Given the description of an element on the screen output the (x, y) to click on. 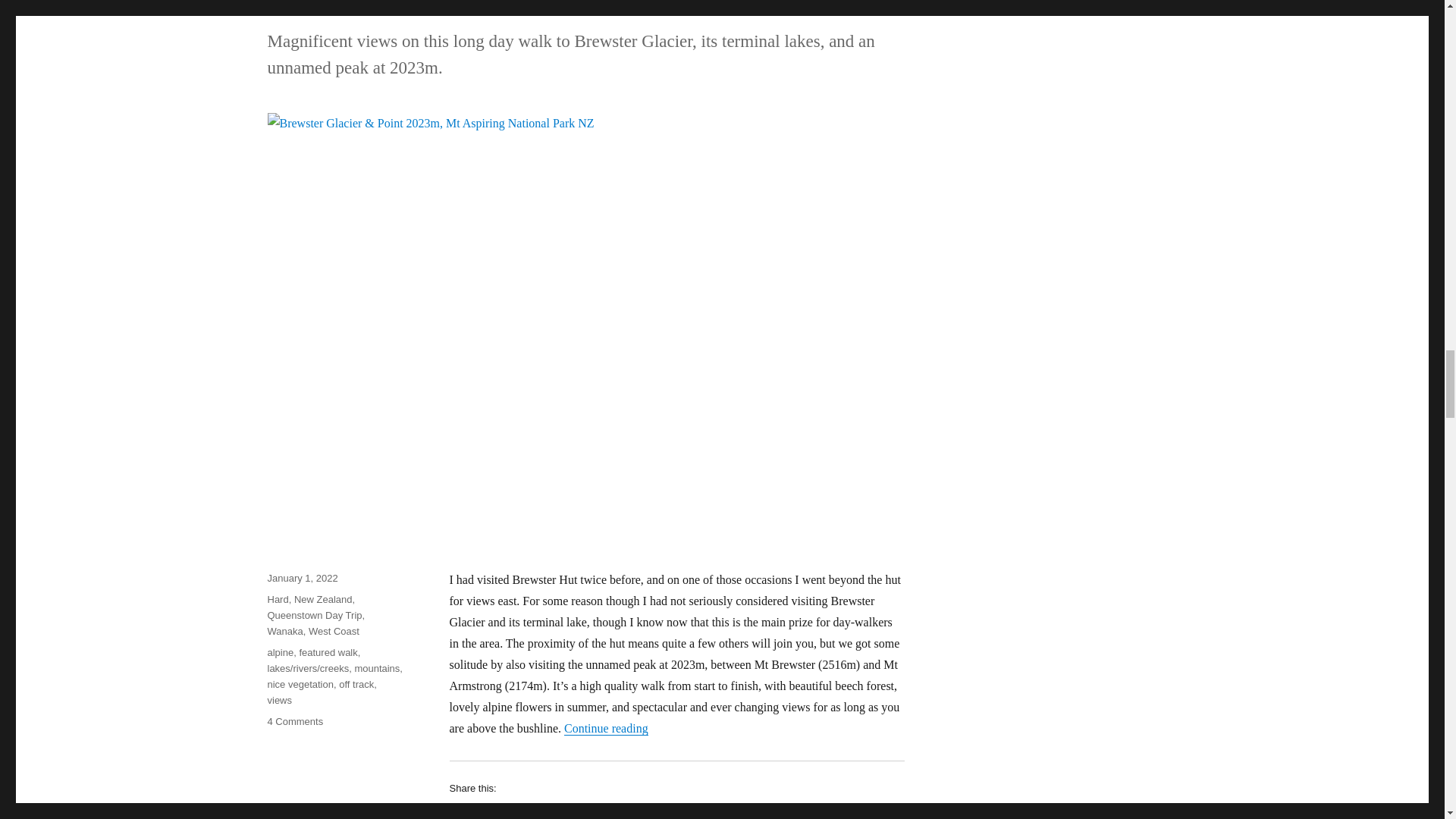
Click to share on Facebook (486, 811)
